Given the description of an element on the screen output the (x, y) to click on. 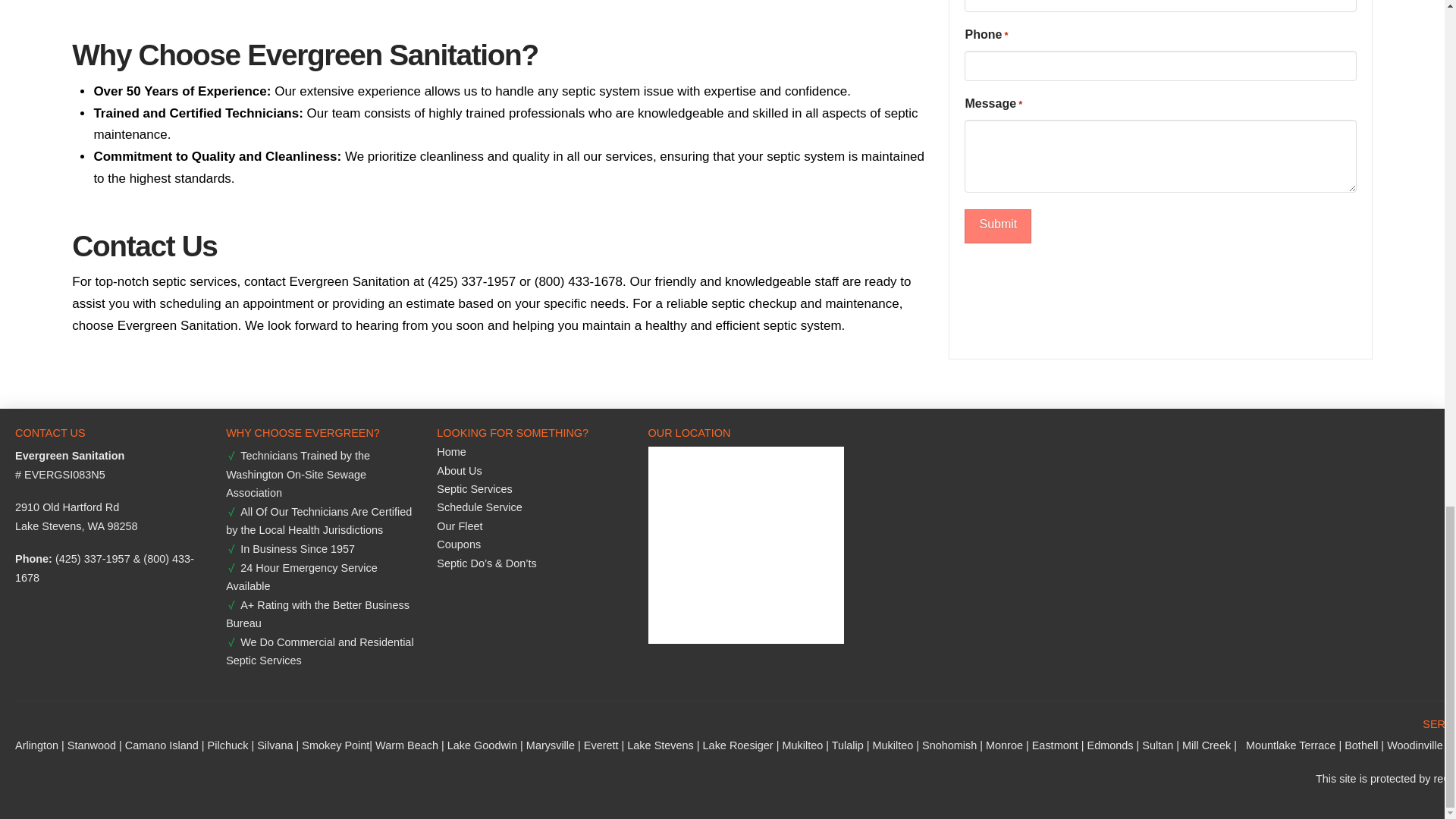
Submit (996, 226)
Septic Services (476, 493)
Our Fleet (461, 529)
Home (453, 455)
Coupons (460, 547)
Schedule Service (480, 511)
Submit (996, 226)
About Us (460, 475)
